Given the description of an element on the screen output the (x, y) to click on. 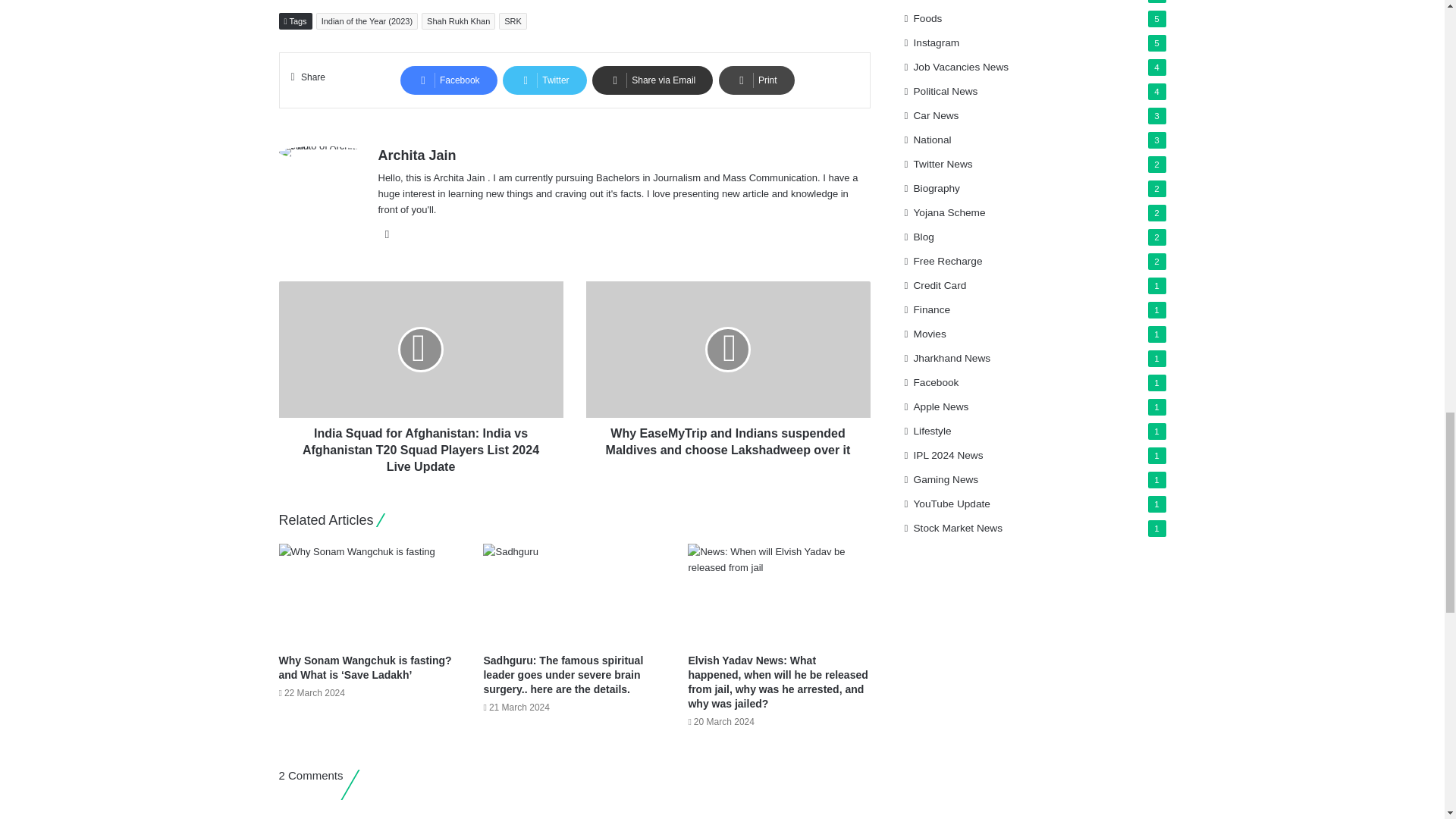
Facebook (448, 80)
SRK (513, 21)
Shah Rukh Khan (458, 21)
